Given the description of an element on the screen output the (x, y) to click on. 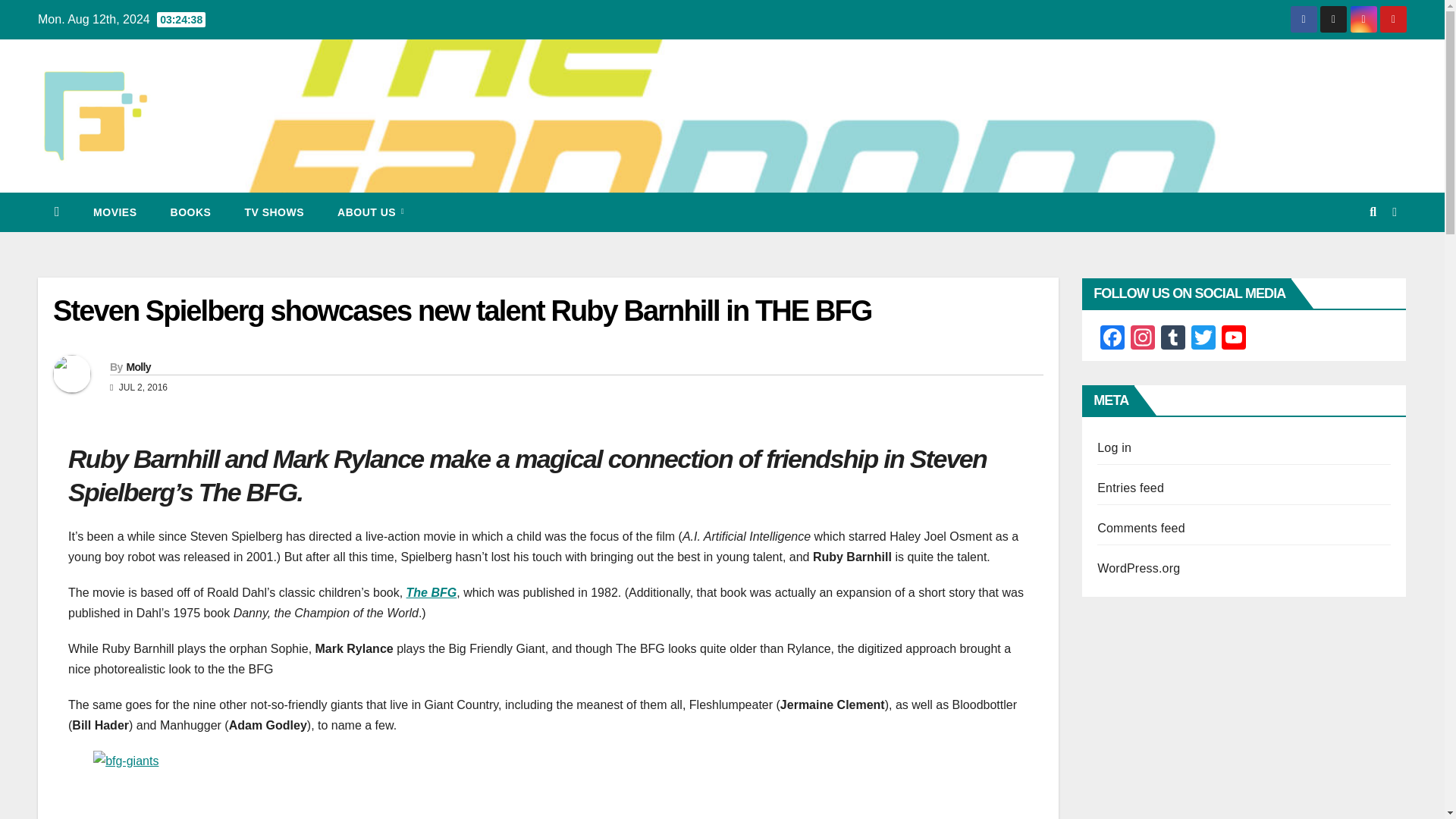
TV SHOWS (273, 211)
ABOUT US (370, 211)
Facebook (1111, 338)
ABOUT US (370, 211)
BOOKS (191, 211)
Molly (137, 367)
MOVIES (114, 211)
TV SHOWS (273, 211)
The BFG (431, 592)
